Given the description of an element on the screen output the (x, y) to click on. 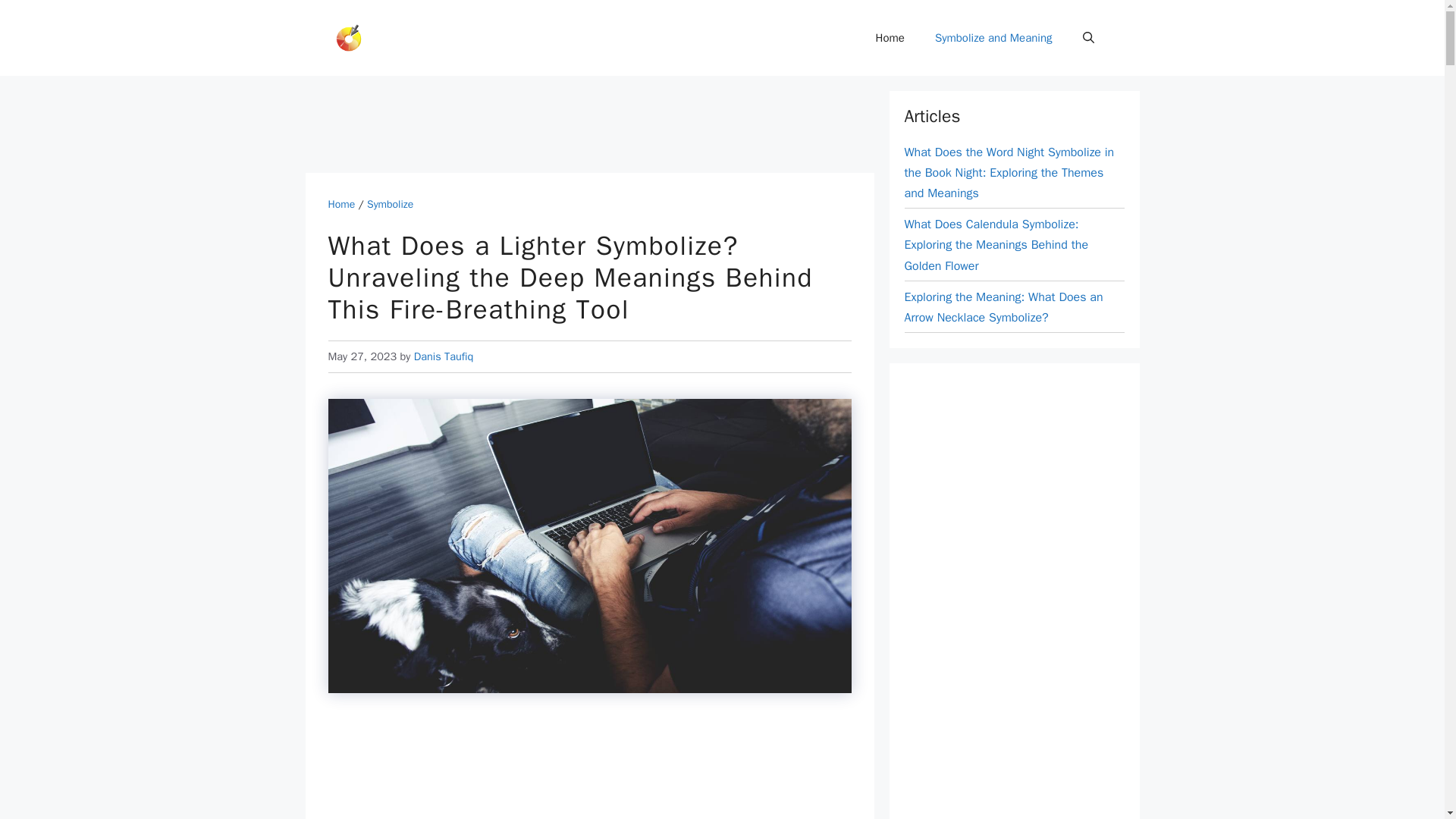
Symbolize (389, 204)
View all posts by Danis Taufiq (443, 356)
Symbolize and Meaning (993, 37)
Home (341, 204)
Home (890, 37)
Danis Taufiq (443, 356)
